Given the description of an element on the screen output the (x, y) to click on. 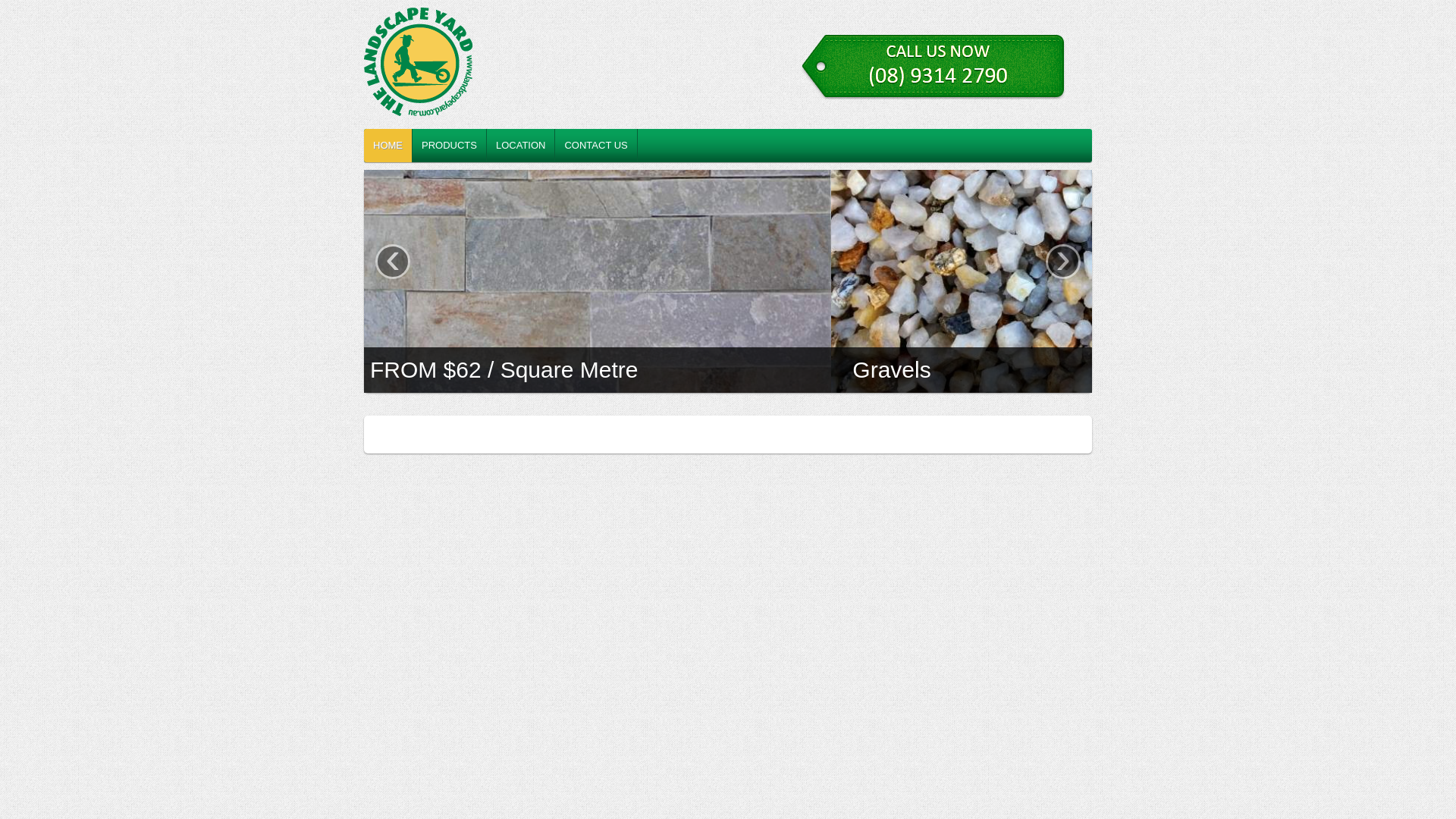
CONTACT US Element type: text (596, 145)
PRODUCTS Element type: text (449, 145)
LANDSCAPE YARD O'CONNOR - PEBBLES, MULCH, PAVING Element type: text (496, 64)
HOME Element type: text (388, 145)
LOCATION Element type: text (520, 145)
